Given the description of an element on the screen output the (x, y) to click on. 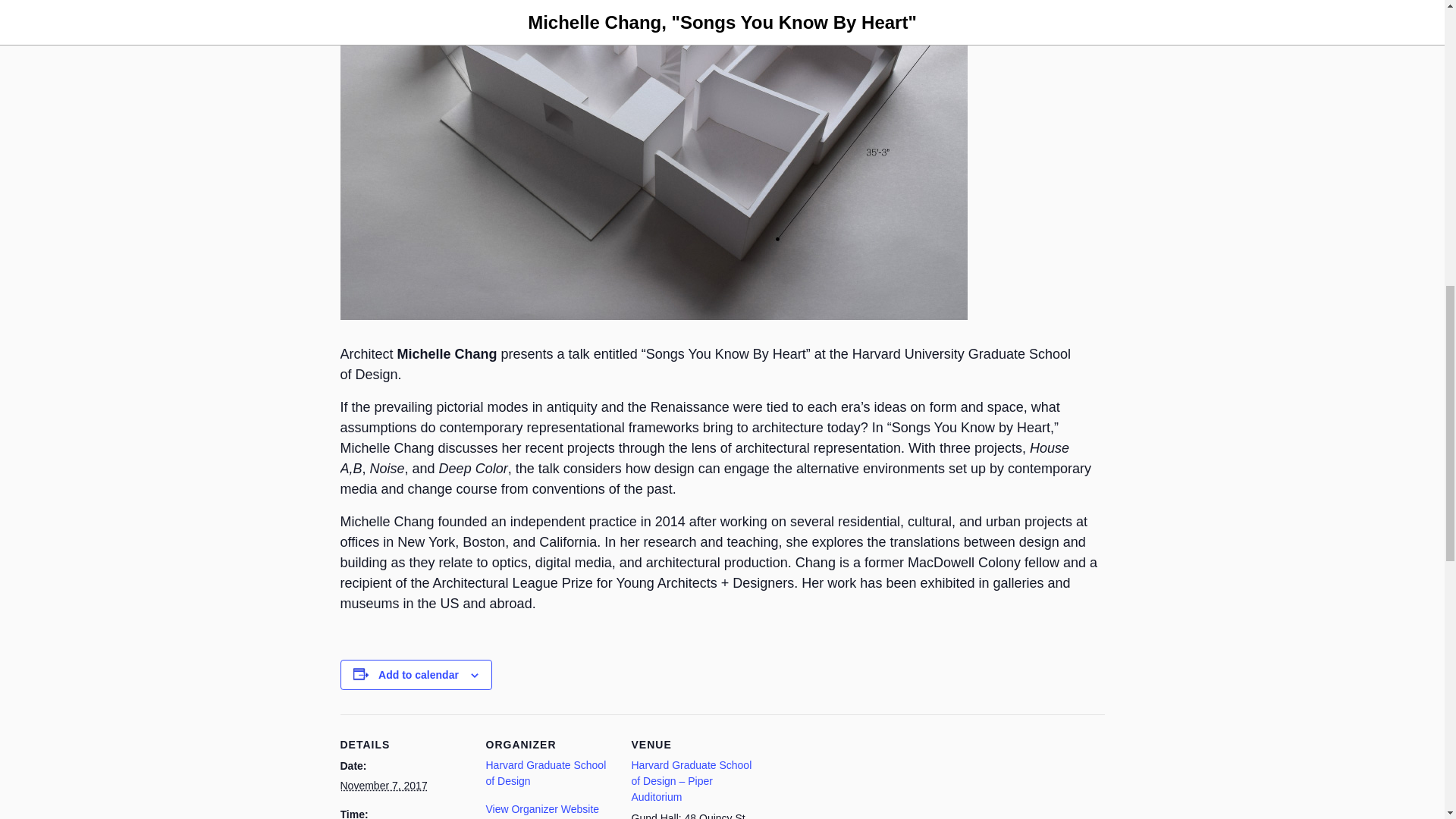
2017-11-07 (382, 785)
Harvard Graduate School of Design (544, 773)
